Given the description of an element on the screen output the (x, y) to click on. 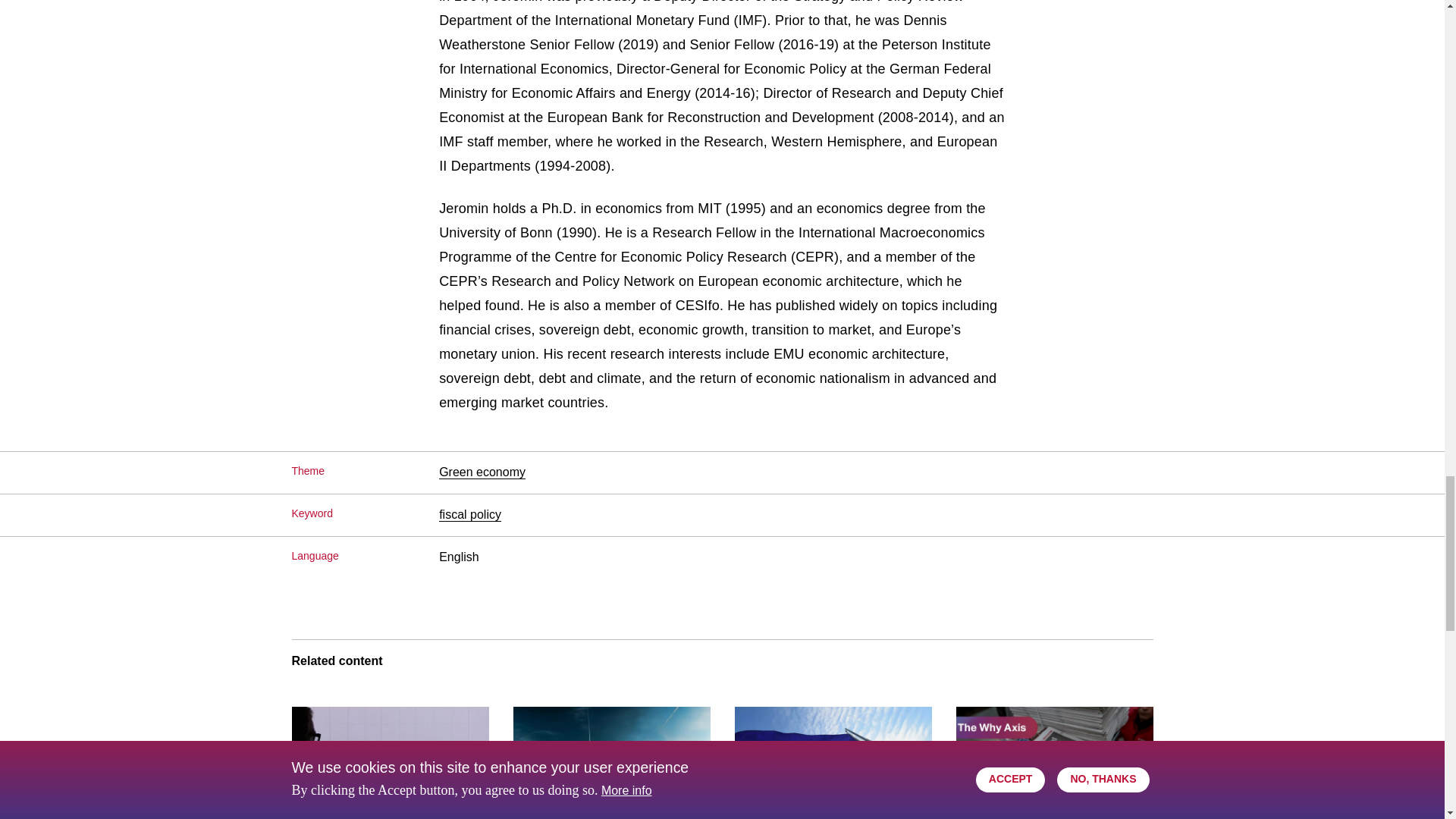
The economic case for north-south climate finance at scale (611, 762)
